Given the description of an element on the screen output the (x, y) to click on. 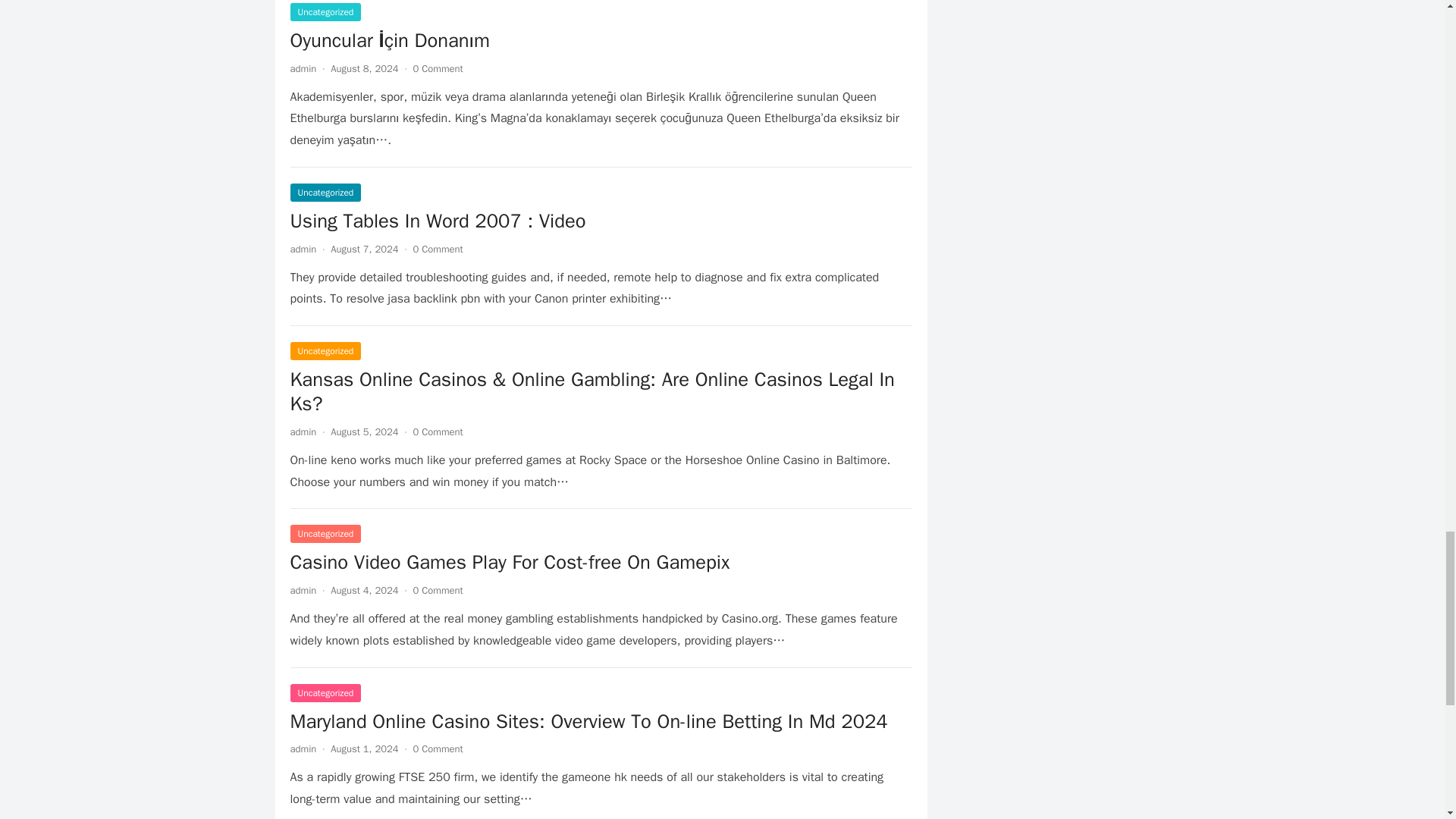
Posts by admin (302, 748)
0 Comment (438, 590)
Uncategorized (325, 12)
0 Comment (438, 748)
Uncategorized (325, 533)
admin (302, 590)
Posts by admin (302, 431)
Uncategorized (325, 192)
admin (302, 248)
